Given the description of an element on the screen output the (x, y) to click on. 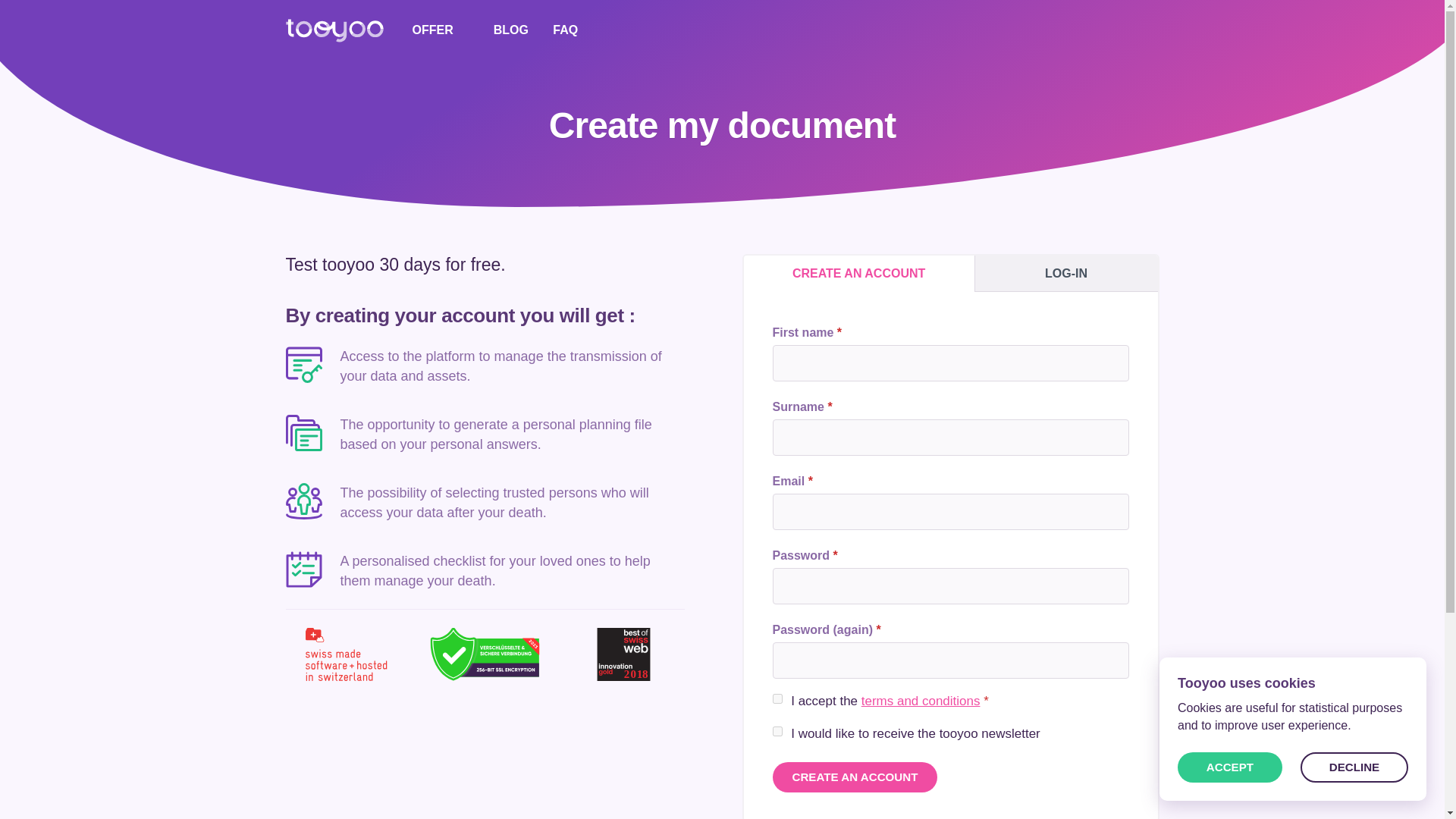
on (776, 698)
CREATE AN ACCOUNT (858, 273)
LOG-IN (1066, 273)
ACCEPT (1229, 767)
on (776, 731)
DECLINE (1353, 767)
FAQ (565, 29)
OFFER (440, 29)
BLOG (510, 29)
CREATE AN ACCOUNT (854, 777)
terms and conditions (920, 700)
